Given the description of an element on the screen output the (x, y) to click on. 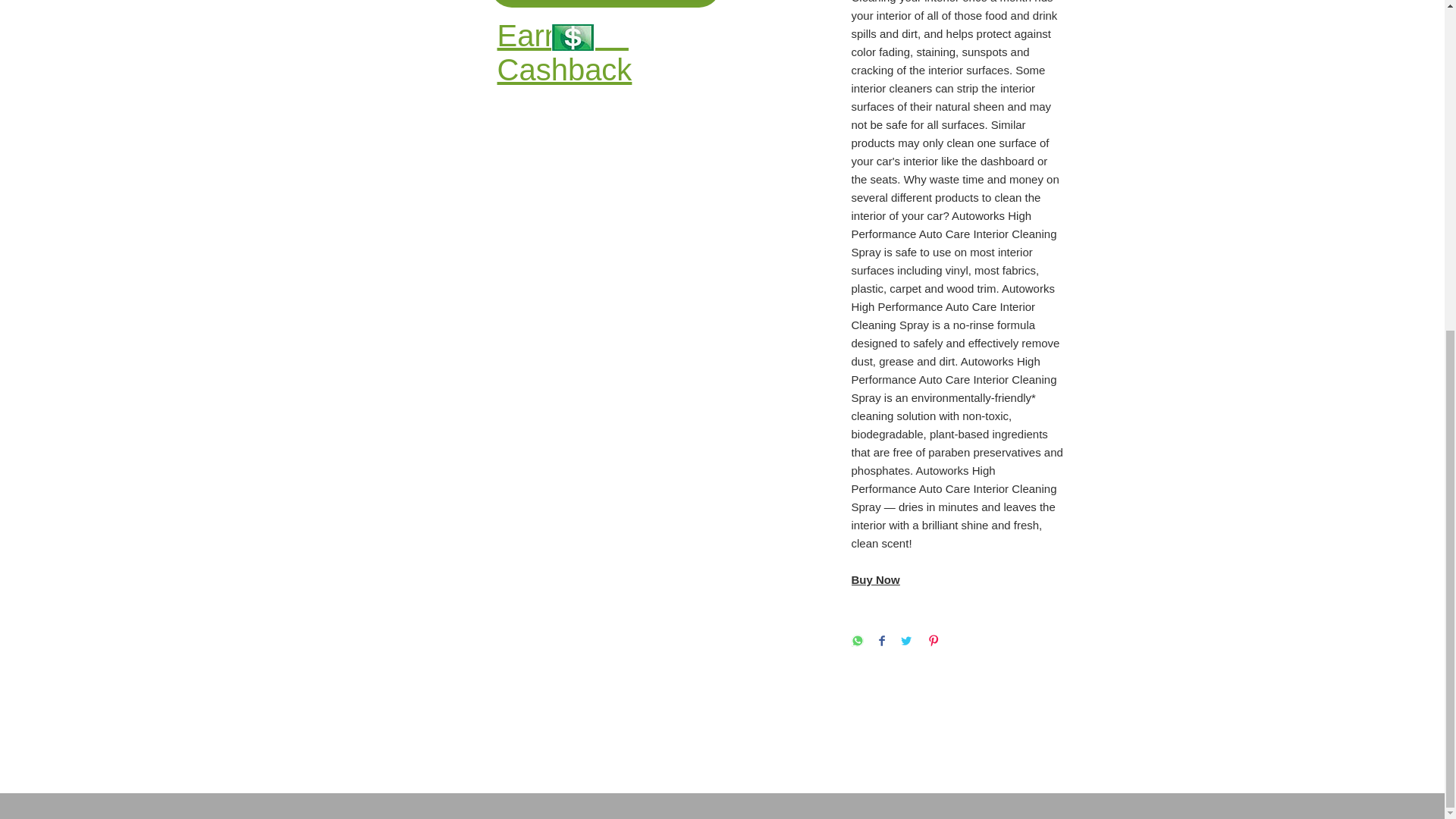
Buy Now (874, 579)
Continue Shopping (604, 3)
Earn         Cashback (564, 52)
